Given the description of an element on the screen output the (x, y) to click on. 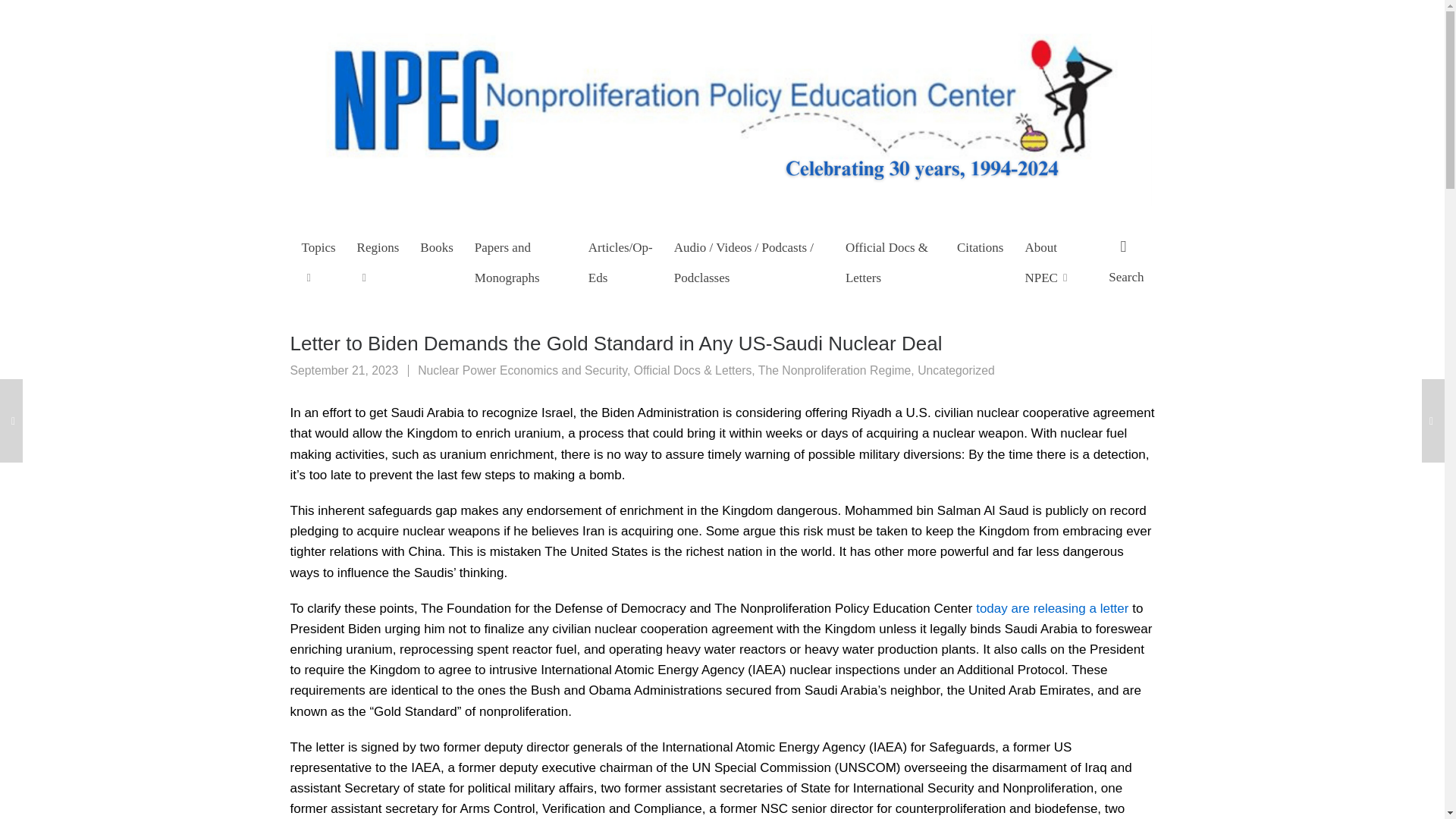
Regions (378, 261)
Books (436, 246)
Papers and Monographs (521, 261)
Topics (317, 261)
